Given the description of an element on the screen output the (x, y) to click on. 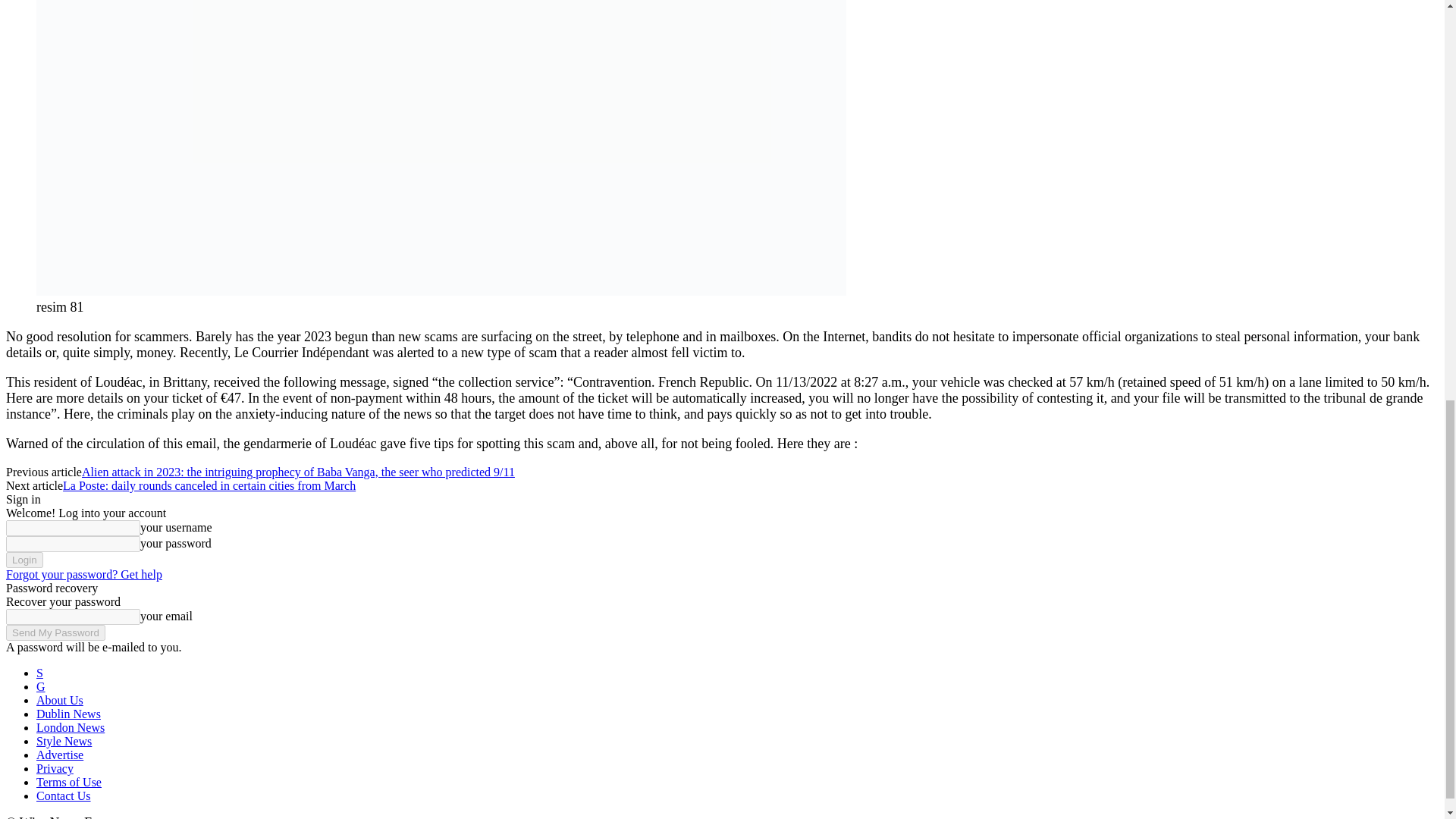
Forgot your password? Get help (83, 574)
About Us (59, 699)
Dublin News (68, 713)
Login (24, 560)
London News (70, 727)
Send My Password (54, 632)
La Poste: daily rounds canceled in certain cities from March (208, 485)
Style News (63, 740)
Privacy (55, 768)
